Given the description of an element on the screen output the (x, y) to click on. 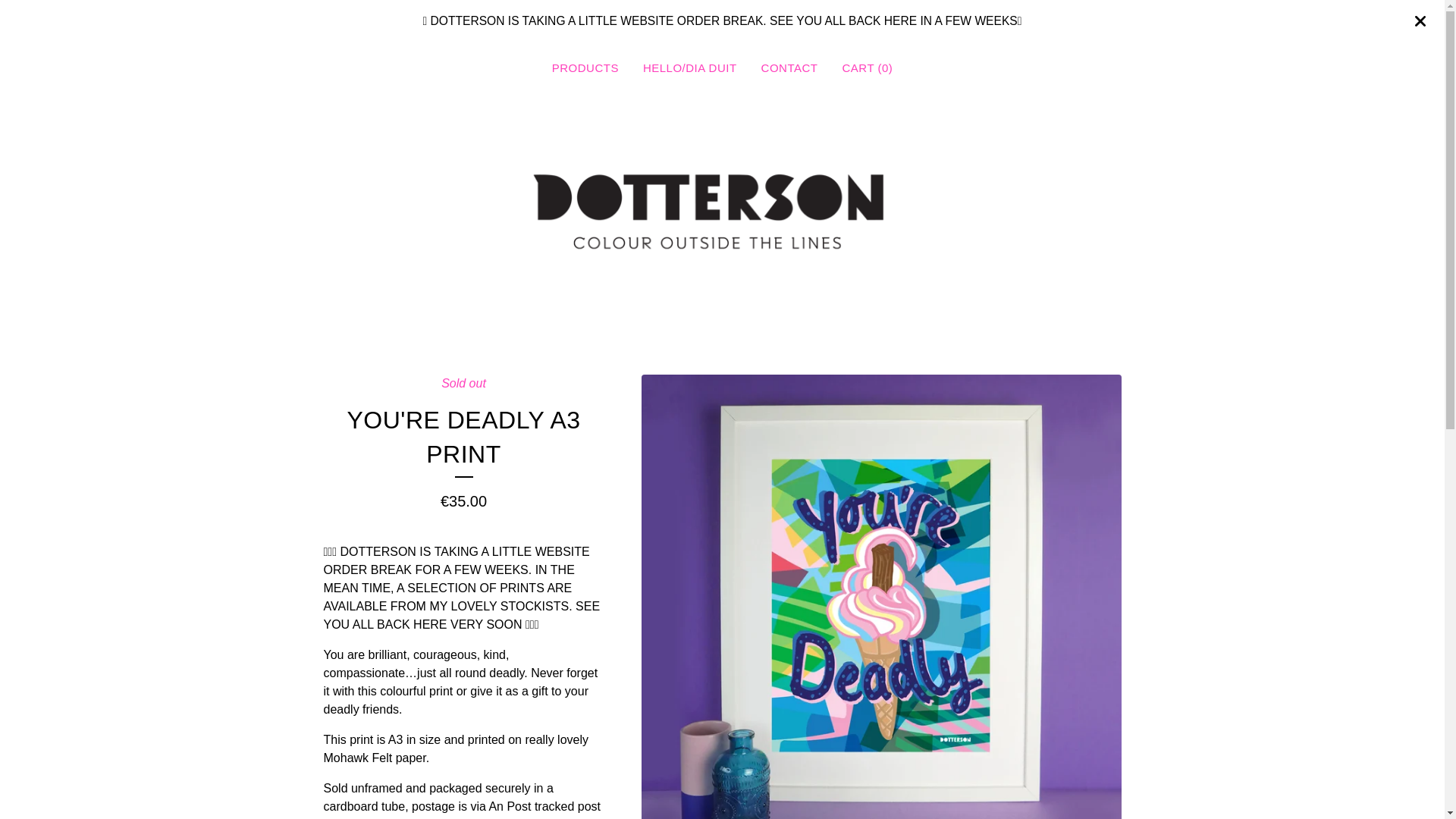
PRODUCTS (585, 68)
Close announcement message (1419, 21)
Home (722, 205)
CONTACT (789, 68)
